Given the description of an element on the screen output the (x, y) to click on. 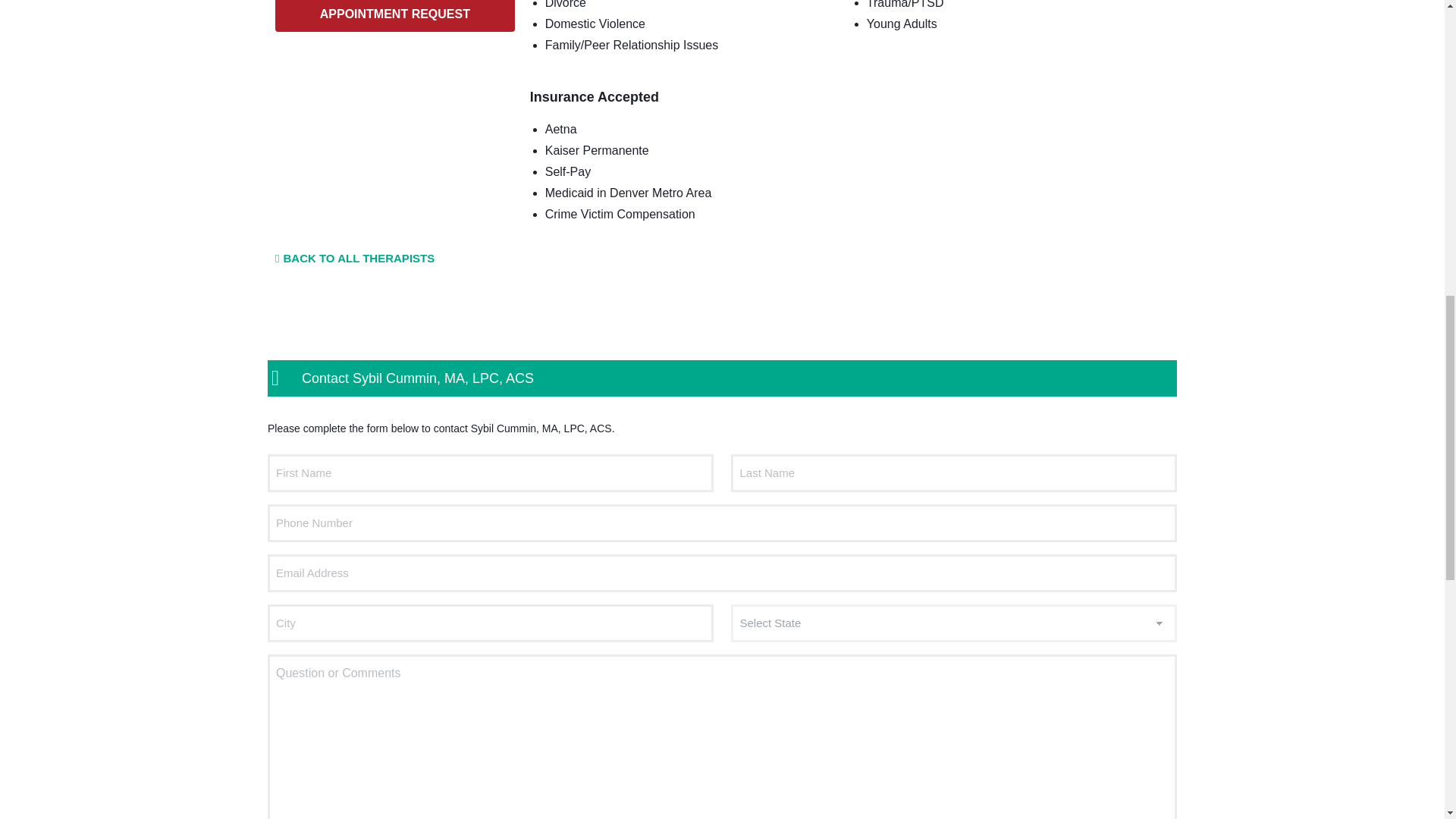
APPOINTMENT REQUEST (395, 15)
BACK TO ALL THERAPISTS (354, 258)
